Given the description of an element on the screen output the (x, y) to click on. 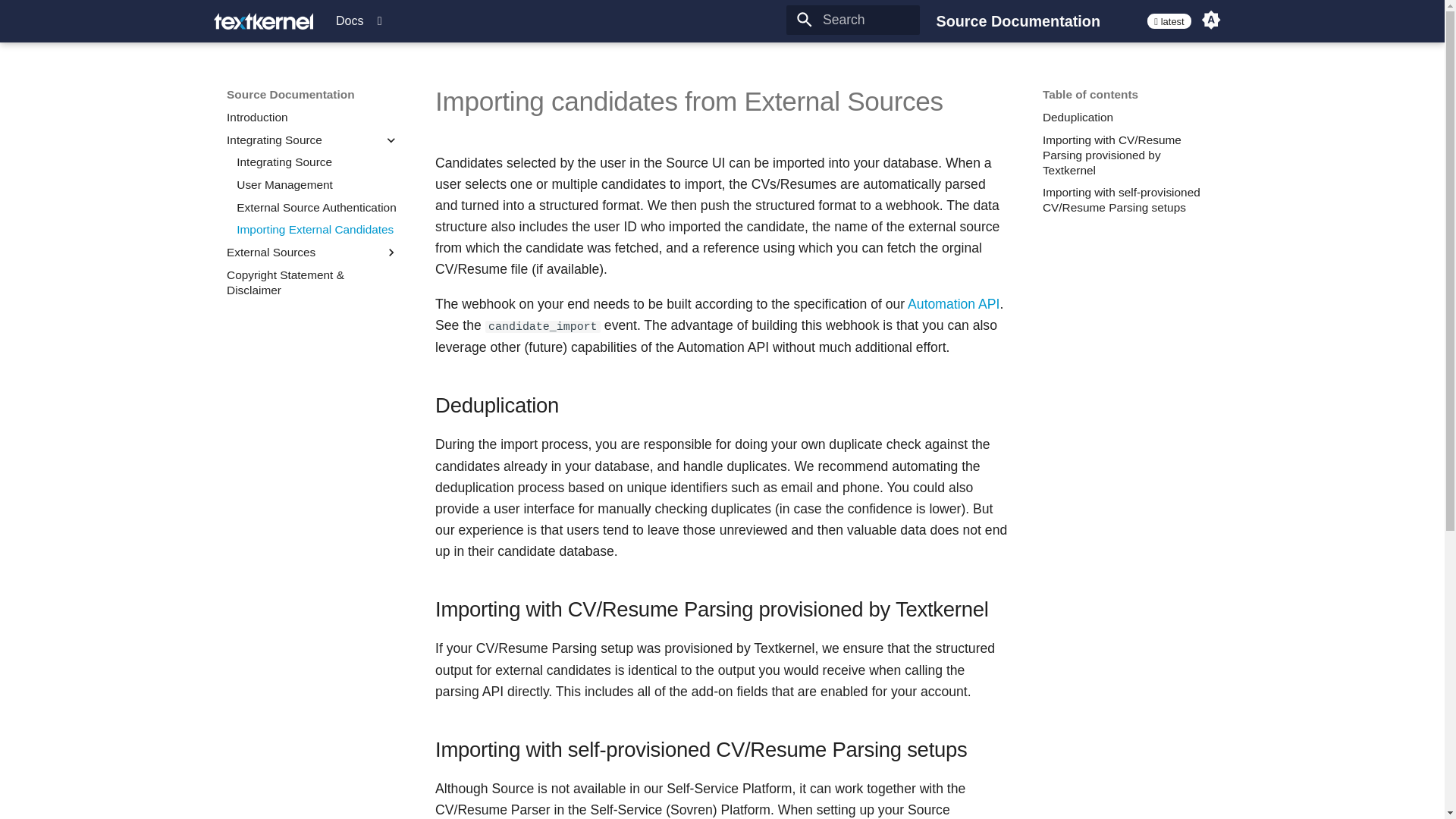
Switch to system default (1210, 20)
Deduplication (1128, 117)
User Management (316, 184)
Docs (355, 21)
Integrating Source (316, 161)
Introduction (312, 117)
External Source Authentication (316, 207)
Source Documentation (263, 21)
Importing External Candidates (316, 229)
Automation API (952, 304)
